Given the description of an element on the screen output the (x, y) to click on. 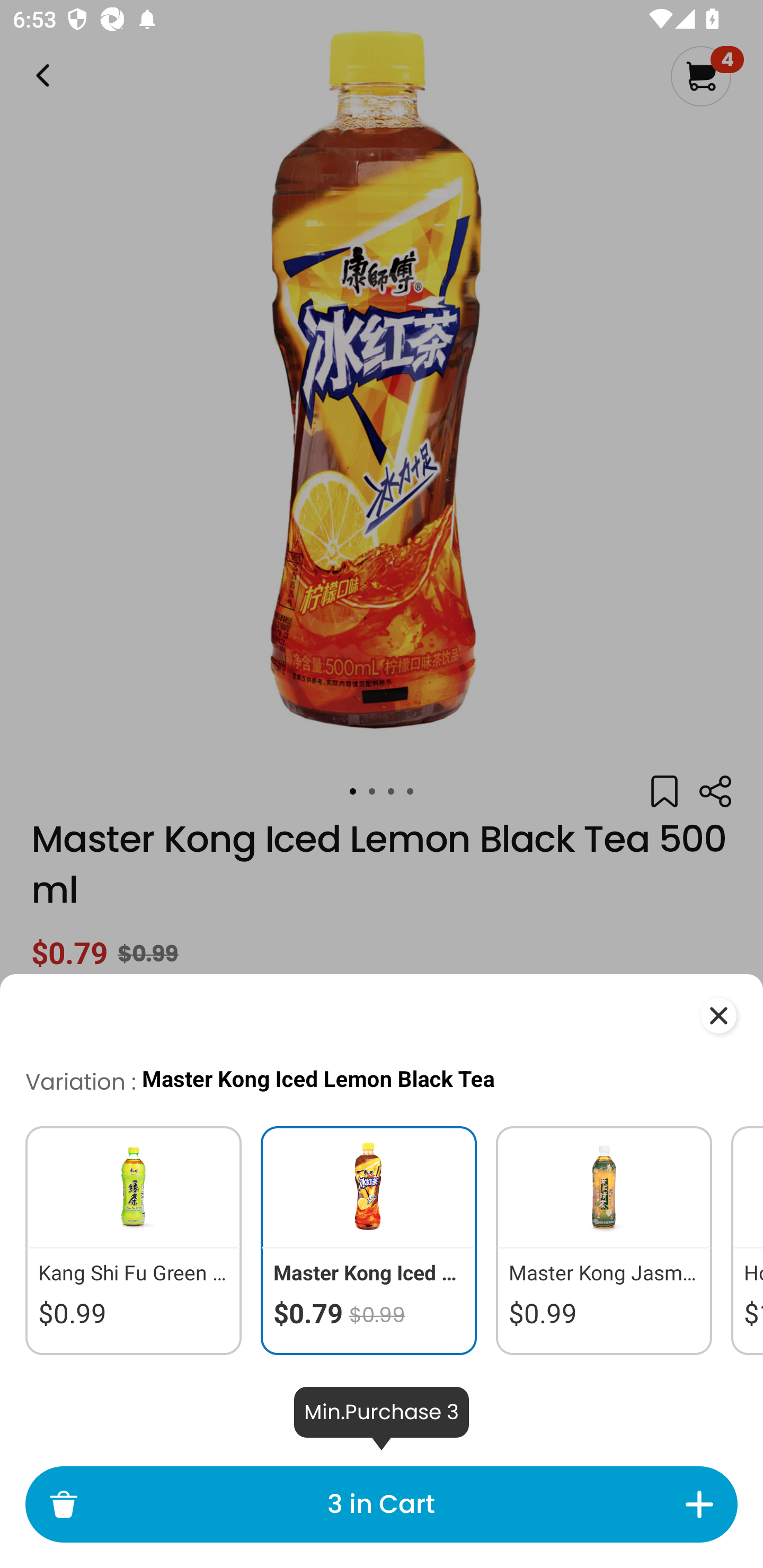
Kang Shi Fu Green Tea $0.99 (125, 1239)
Master Kong Iced Lemon Black Tea $0.79 $0.99 (368, 1239)
Master Kong Jasmine Green Tea, Less Sugar $0.99 (603, 1239)
3 in Cart (381, 1504)
3 in Cart (380, 1504)
